Given the description of an element on the screen output the (x, y) to click on. 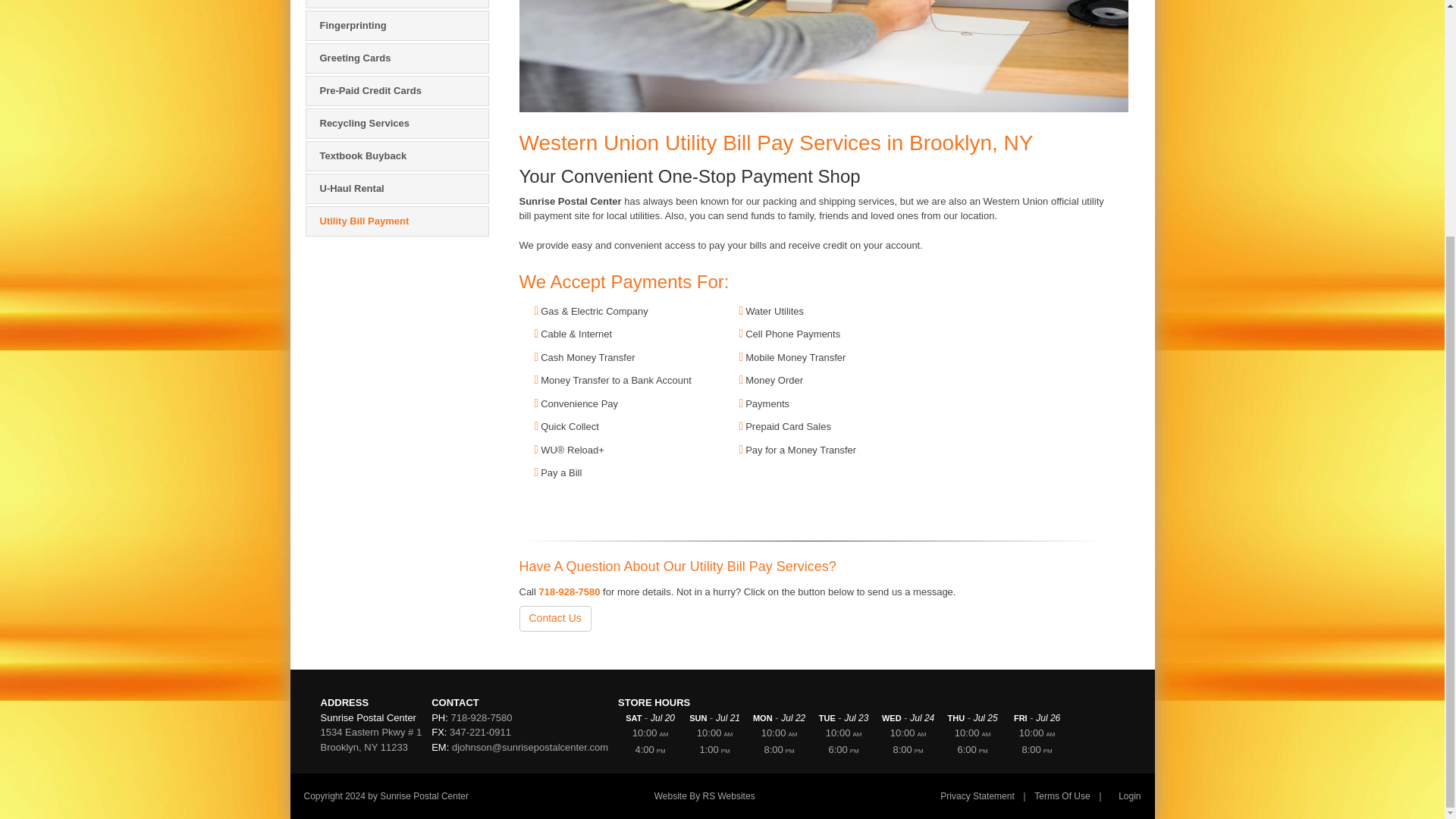
Login (1129, 796)
